Given the description of an element on the screen output the (x, y) to click on. 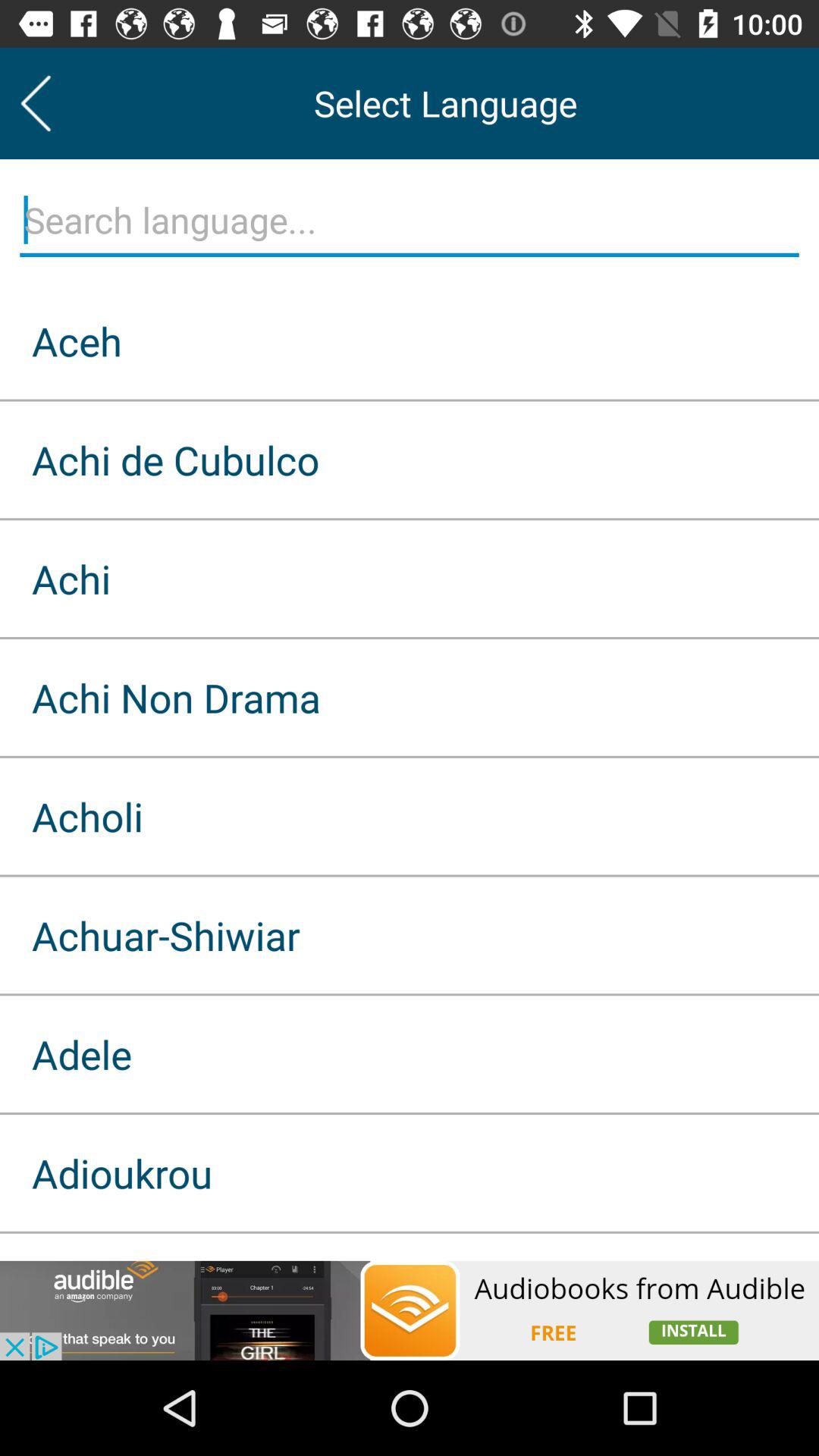
go to advertisement (409, 1310)
